Given the description of an element on the screen output the (x, y) to click on. 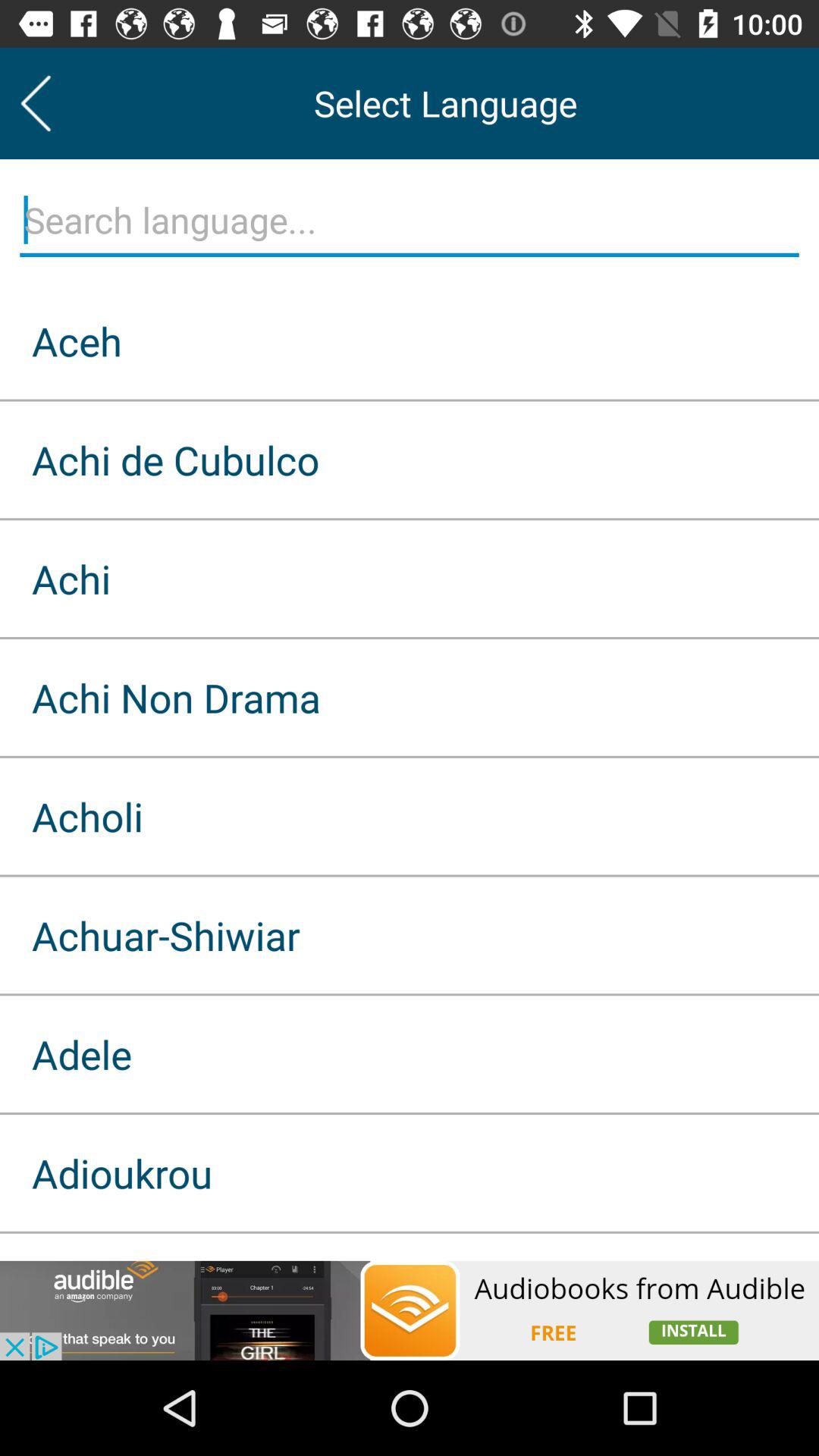
go to advertisement (409, 1310)
